Given the description of an element on the screen output the (x, y) to click on. 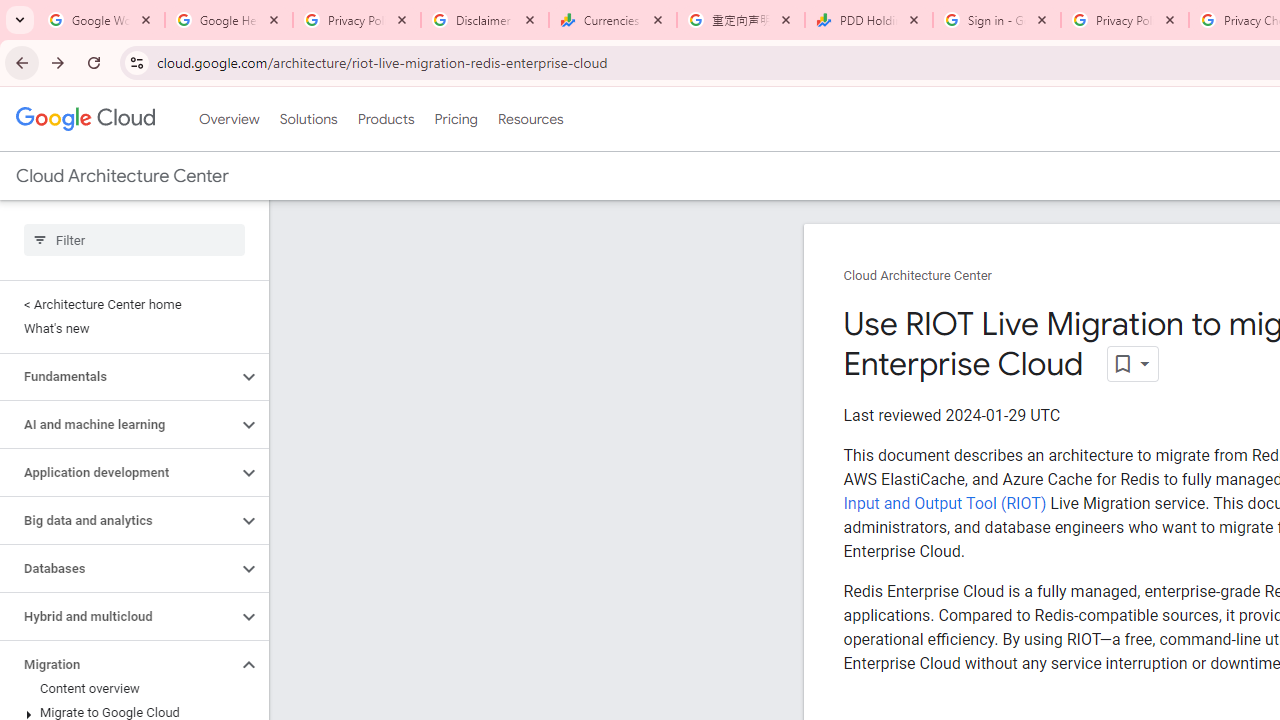
PDD Holdings Inc - ADR (PDD) Price & News - Google Finance (869, 20)
Resources (530, 119)
Google Workspace Admin Community (101, 20)
Hybrid and multicloud (118, 616)
Cloud Architecture Center (917, 276)
AI and machine learning (118, 425)
Type to filter (134, 239)
< Architecture Center home (130, 304)
Databases (118, 569)
